Given the description of an element on the screen output the (x, y) to click on. 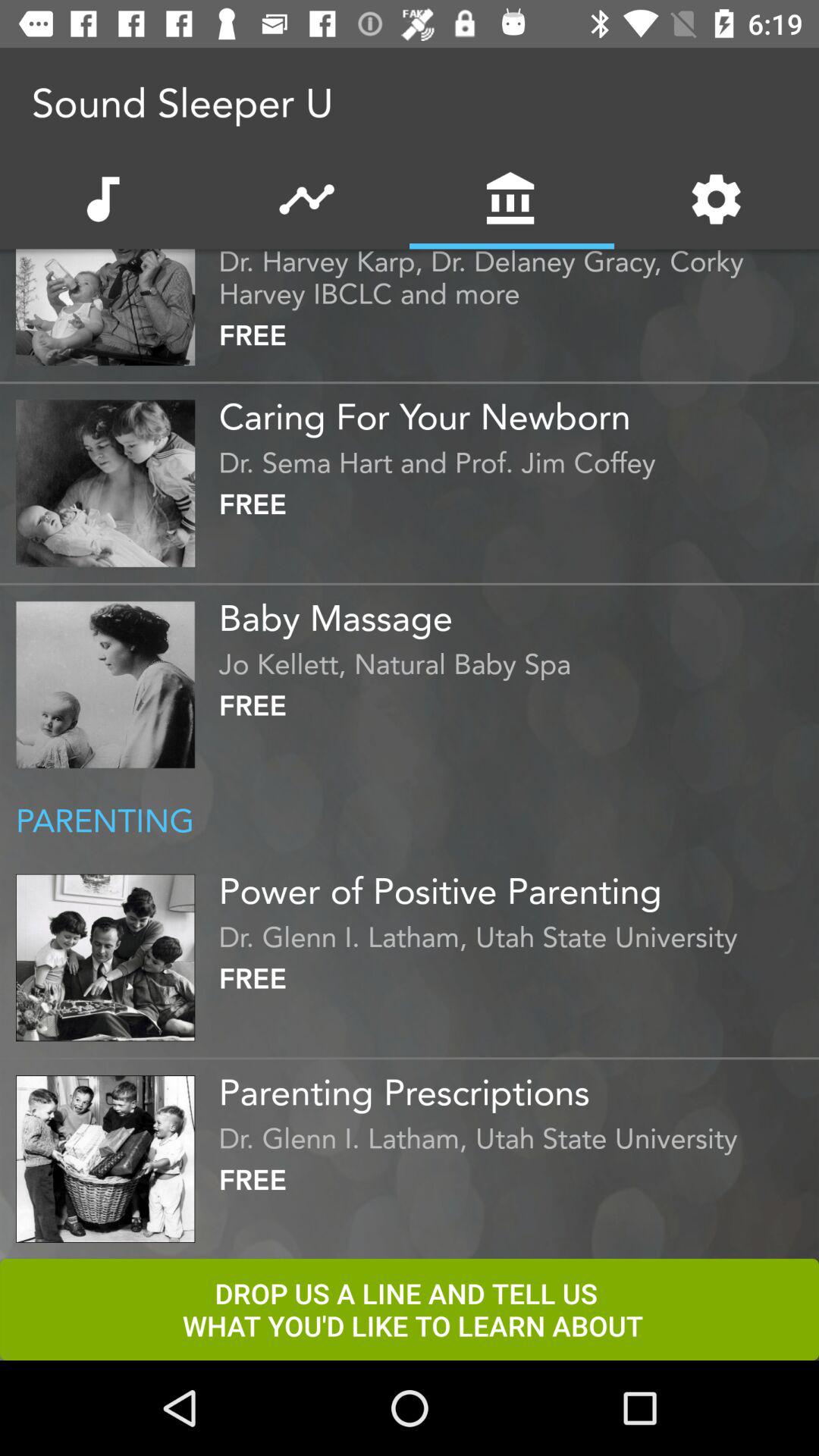
choose the item above the free icon (515, 659)
